Given the description of an element on the screen output the (x, y) to click on. 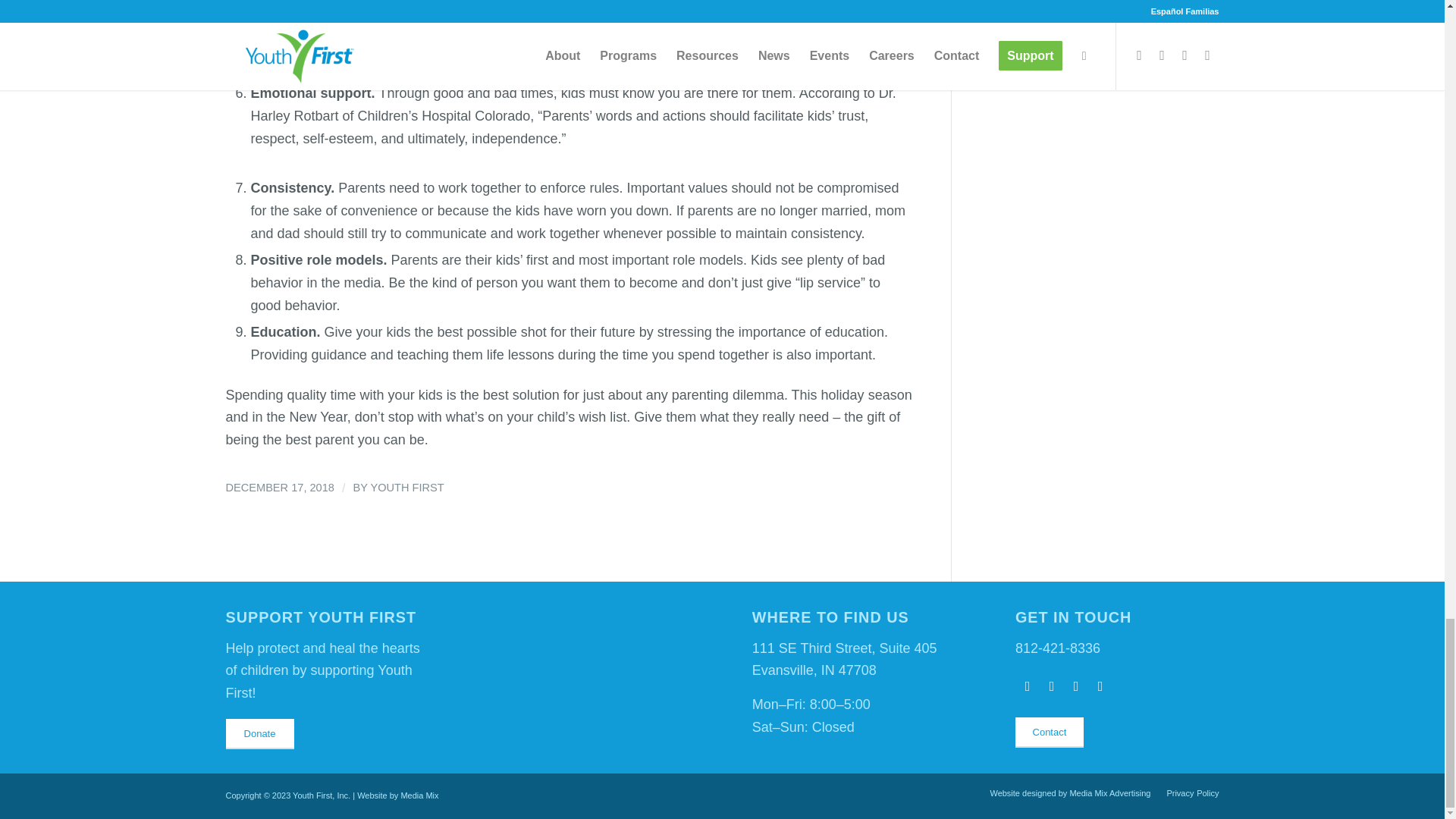
Posts by Youth First (406, 487)
